Given the description of an element on the screen output the (x, y) to click on. 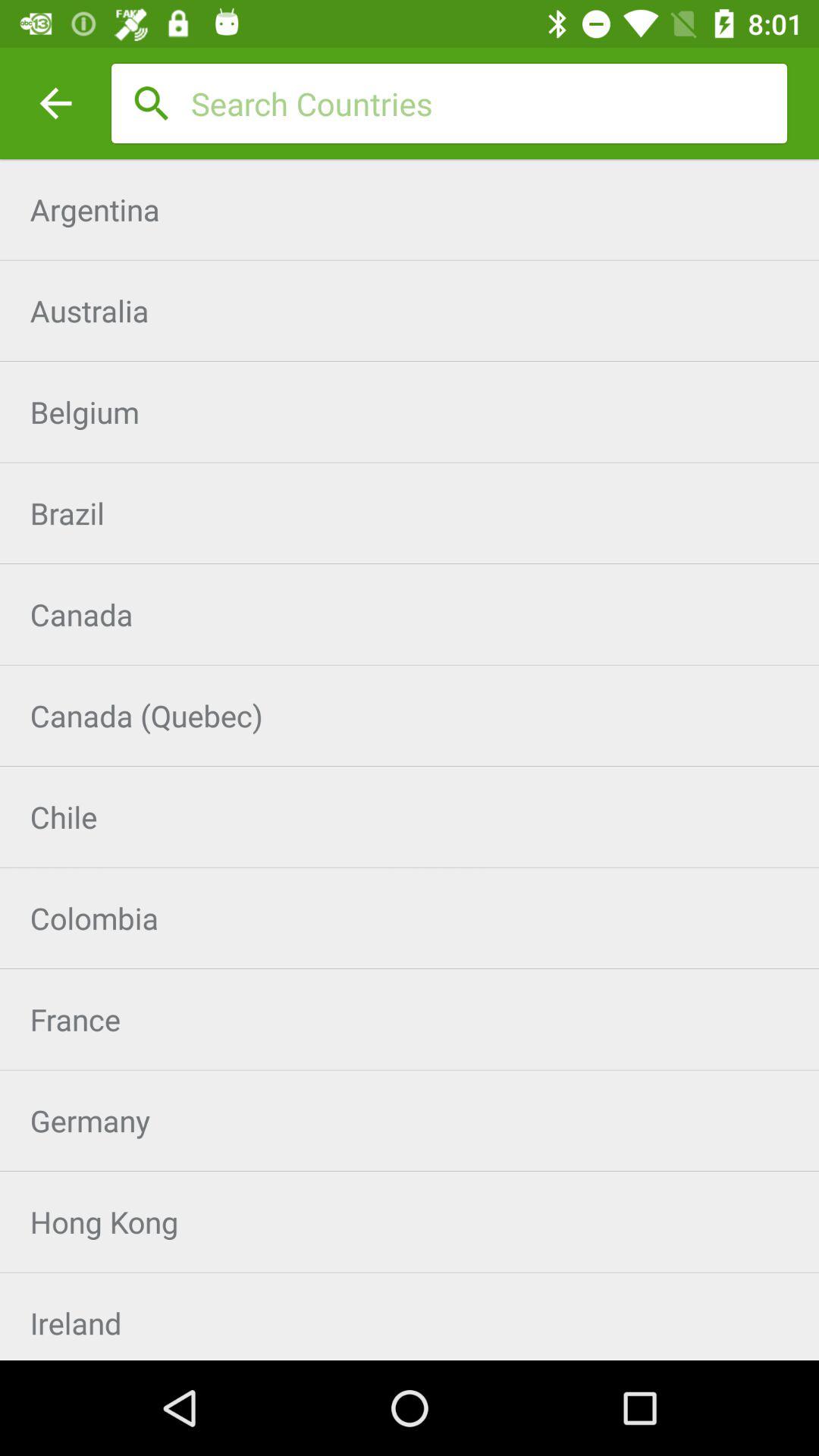
turn off hong kong icon (409, 1221)
